Given the description of an element on the screen output the (x, y) to click on. 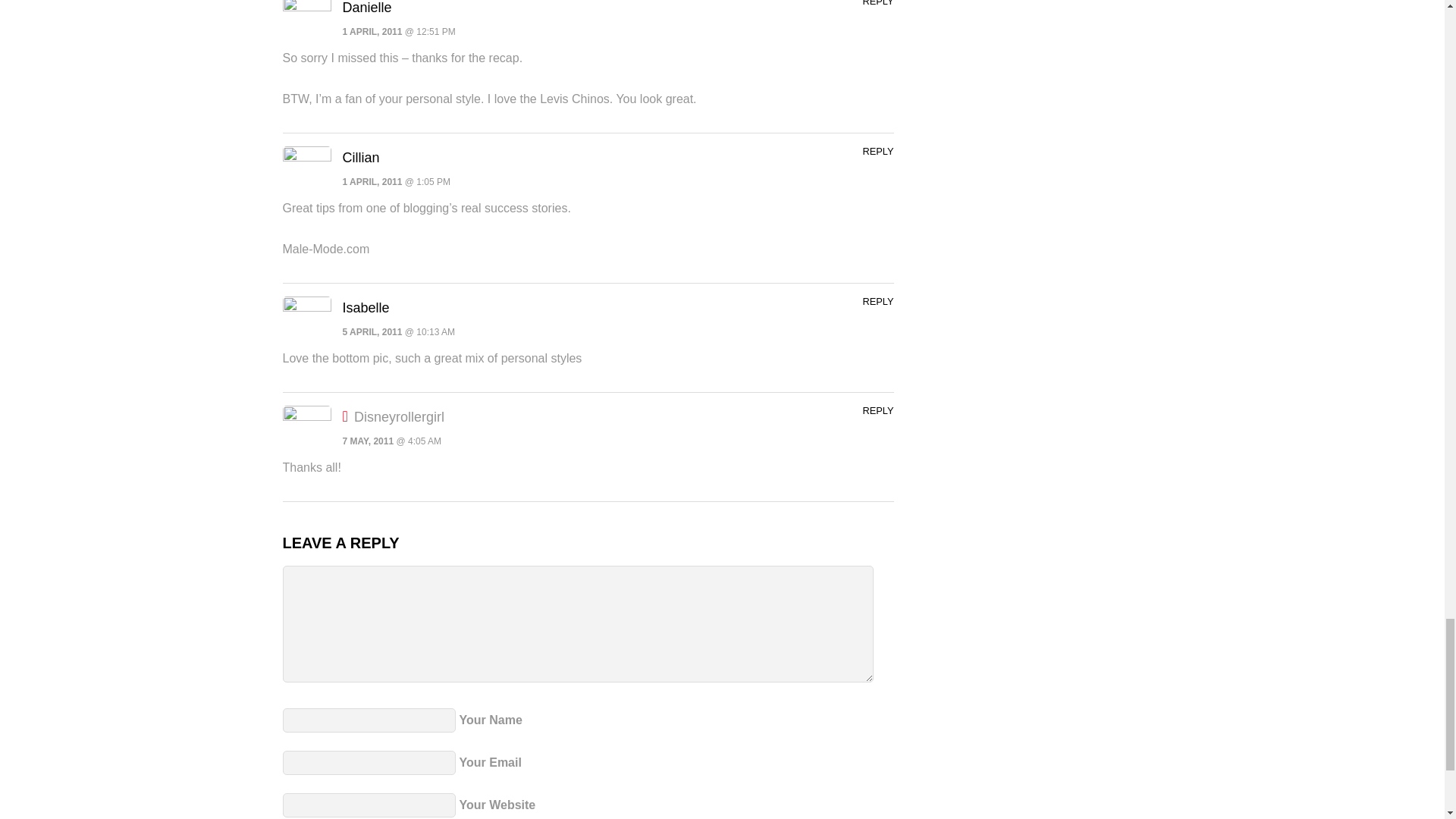
REPLY (877, 301)
Danielle (366, 7)
REPLY (877, 3)
Isabelle (366, 307)
REPLY (877, 151)
REPLY (877, 410)
Cillian (361, 157)
